Given the description of an element on the screen output the (x, y) to click on. 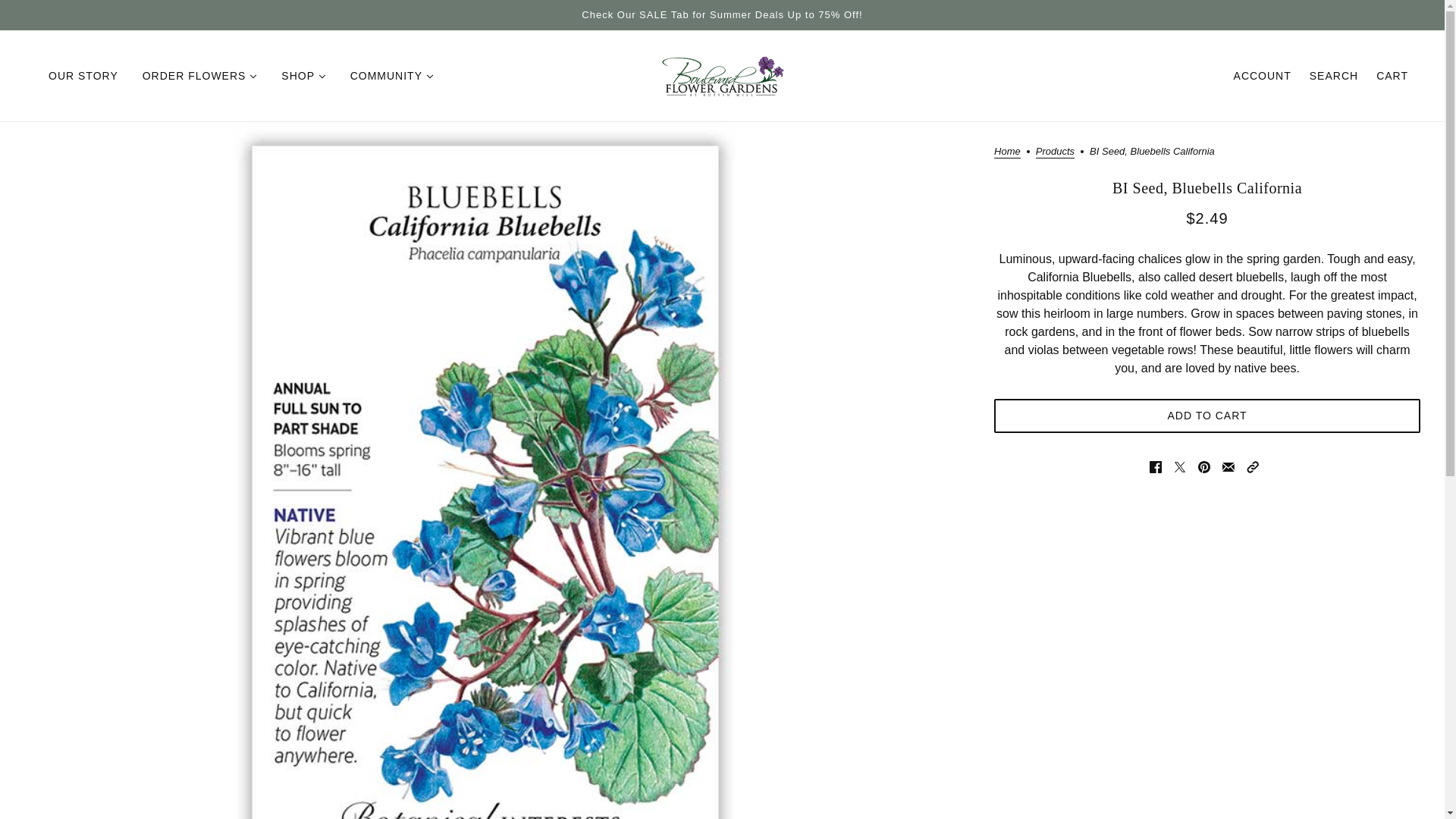
SHOP  (303, 75)
ORDER FLOWERS  (200, 75)
OUR STORY (83, 75)
COMMUNITY  (391, 75)
Boulevard Flower Gardens (722, 75)
